Given the description of an element on the screen output the (x, y) to click on. 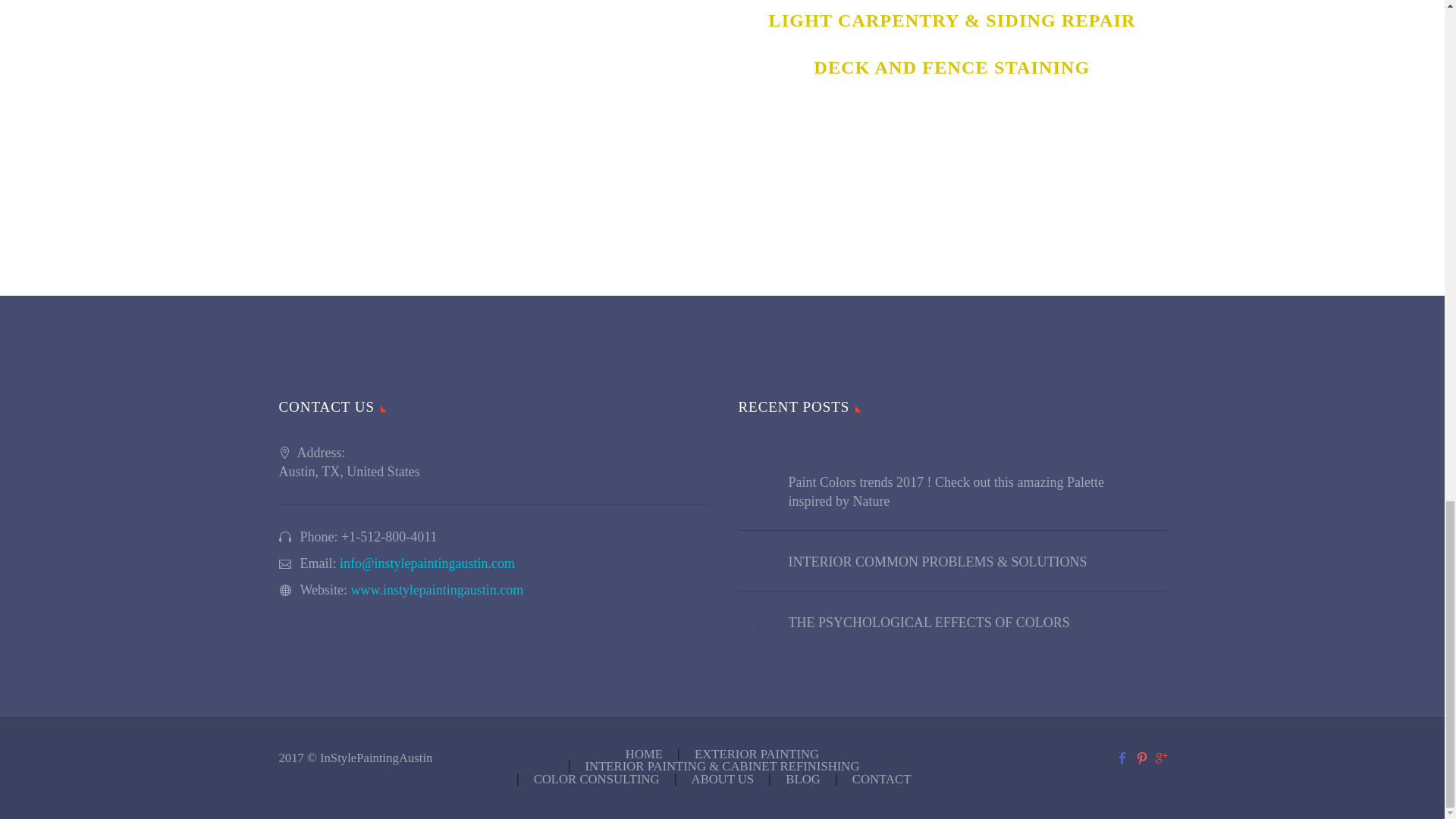
www.instylepaintingaustin.com (437, 589)
googleplus (1161, 758)
CONTACT (881, 779)
BLOG (802, 779)
ABOUT US (722, 779)
pinterest (1141, 758)
THE PSYCHOLOGICAL EFFECTS OF COLORS (977, 619)
HOME (644, 754)
COLOR CONSULTING (596, 779)
